Given the description of an element on the screen output the (x, y) to click on. 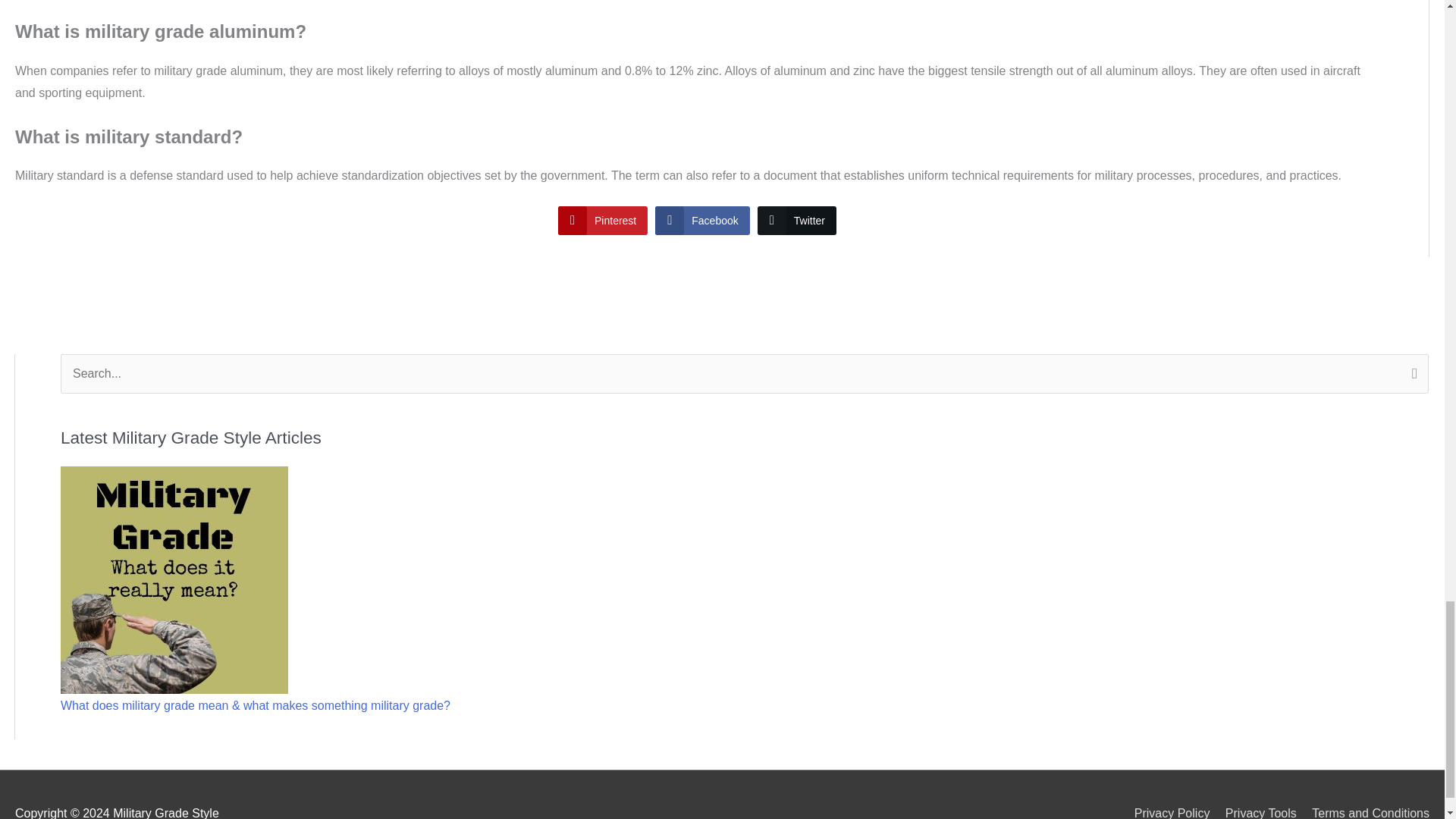
Privacy Tools (1254, 812)
Facebook (702, 220)
Pinterest (602, 220)
Privacy Policy (1165, 812)
Terms and Conditions (1364, 812)
Twitter (796, 220)
